Given the description of an element on the screen output the (x, y) to click on. 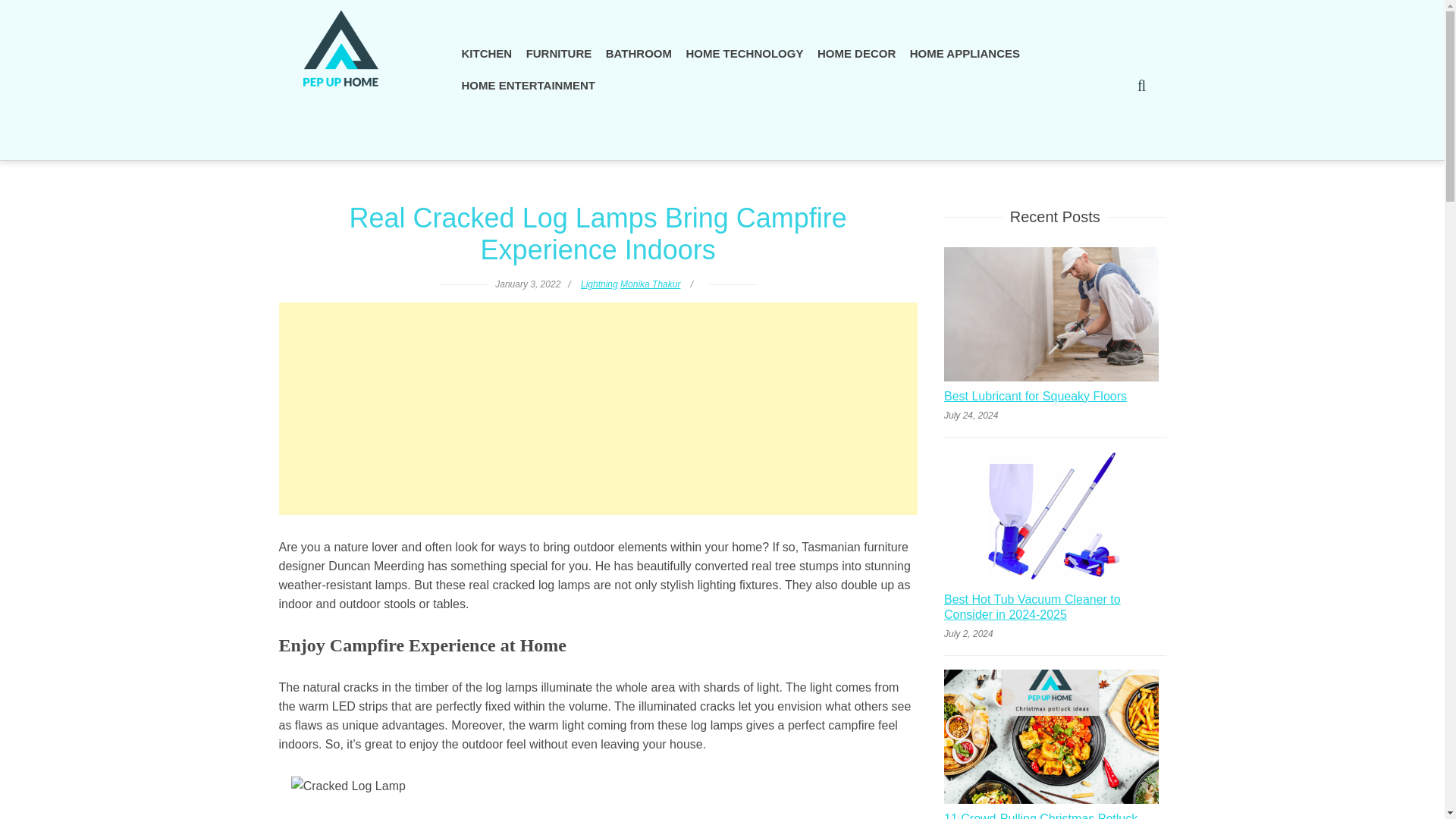
11 Crowd-Pulling Christmas Potluck Ideas To Try This Year (1054, 815)
FURNITURE (558, 53)
KITCHEN (487, 53)
Best Lubricant for Squeaky Floors (1034, 398)
BATHROOM (638, 53)
HOME TECHNOLOGY (743, 53)
HOME ENTERTAINMENT (528, 85)
HOME DECOR (856, 53)
Monika Thakur (649, 284)
HOME APPLIANCES (964, 53)
Best Hot Tub Vacuum Cleaner to Consider in 2024-2025 (1054, 609)
Monika Thakur (649, 284)
Lightning (598, 284)
